Given the description of an element on the screen output the (x, y) to click on. 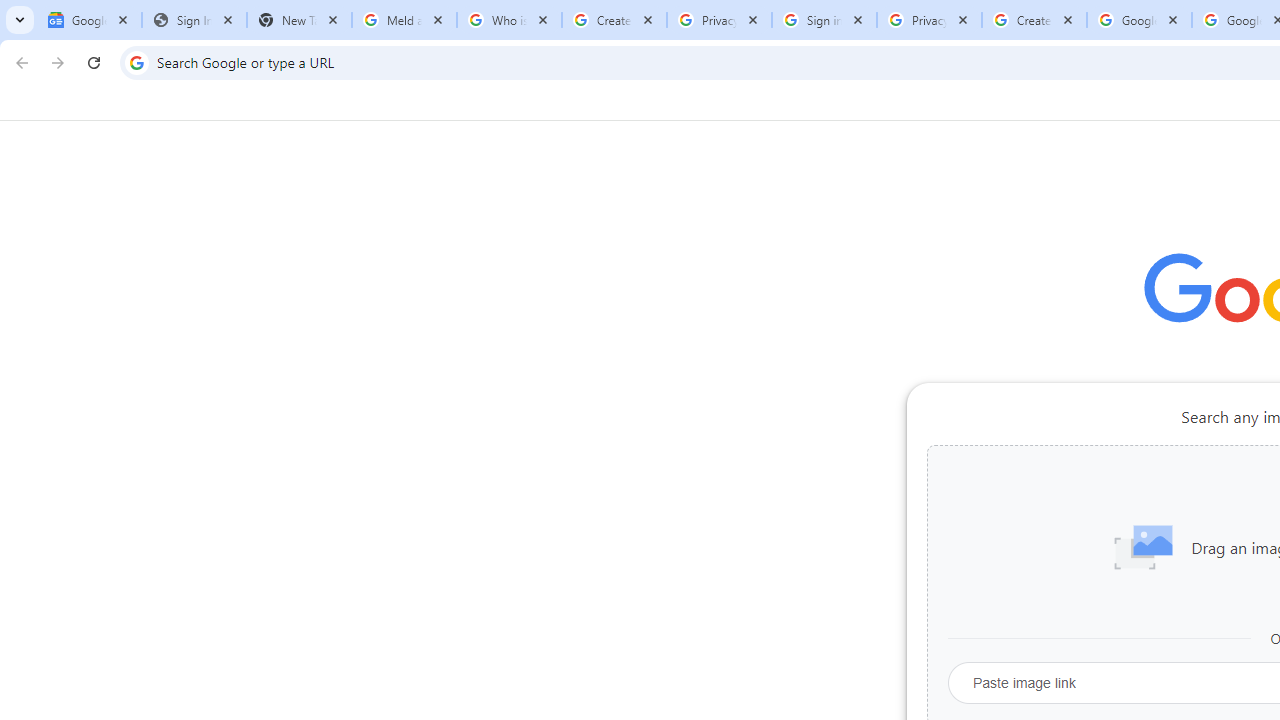
Sign in - Google Accounts (823, 20)
More actions for Sign in shortcut (1095, 466)
